Given the description of an element on the screen output the (x, y) to click on. 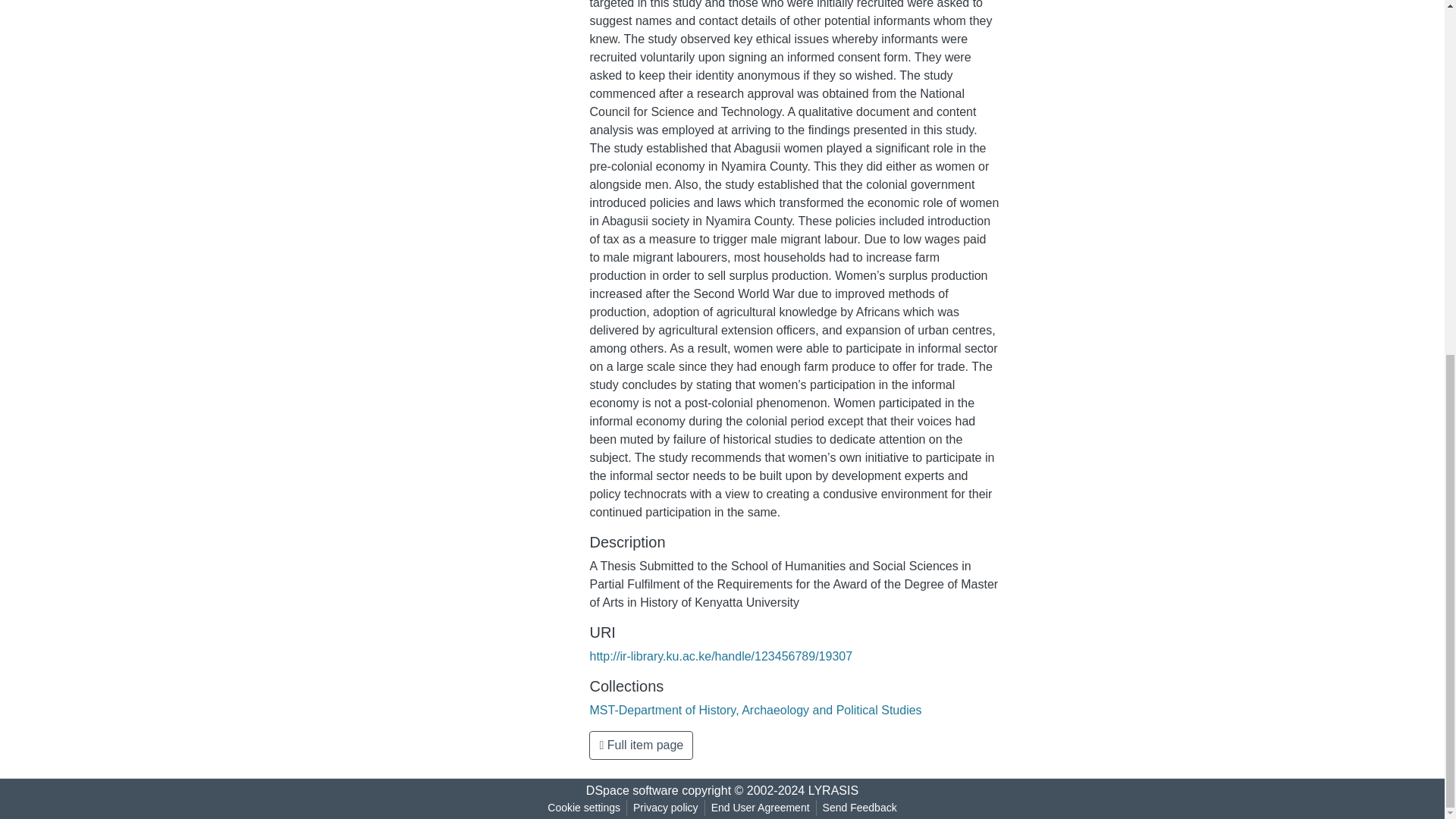
End User Agreement (759, 807)
Cookie settings (583, 807)
LYRASIS (833, 789)
Send Feedback (859, 807)
DSpace software (632, 789)
Privacy policy (665, 807)
Full item page (641, 745)
MST-Department of History, Archaeology and Political Studies (755, 709)
